Given the description of an element on the screen output the (x, y) to click on. 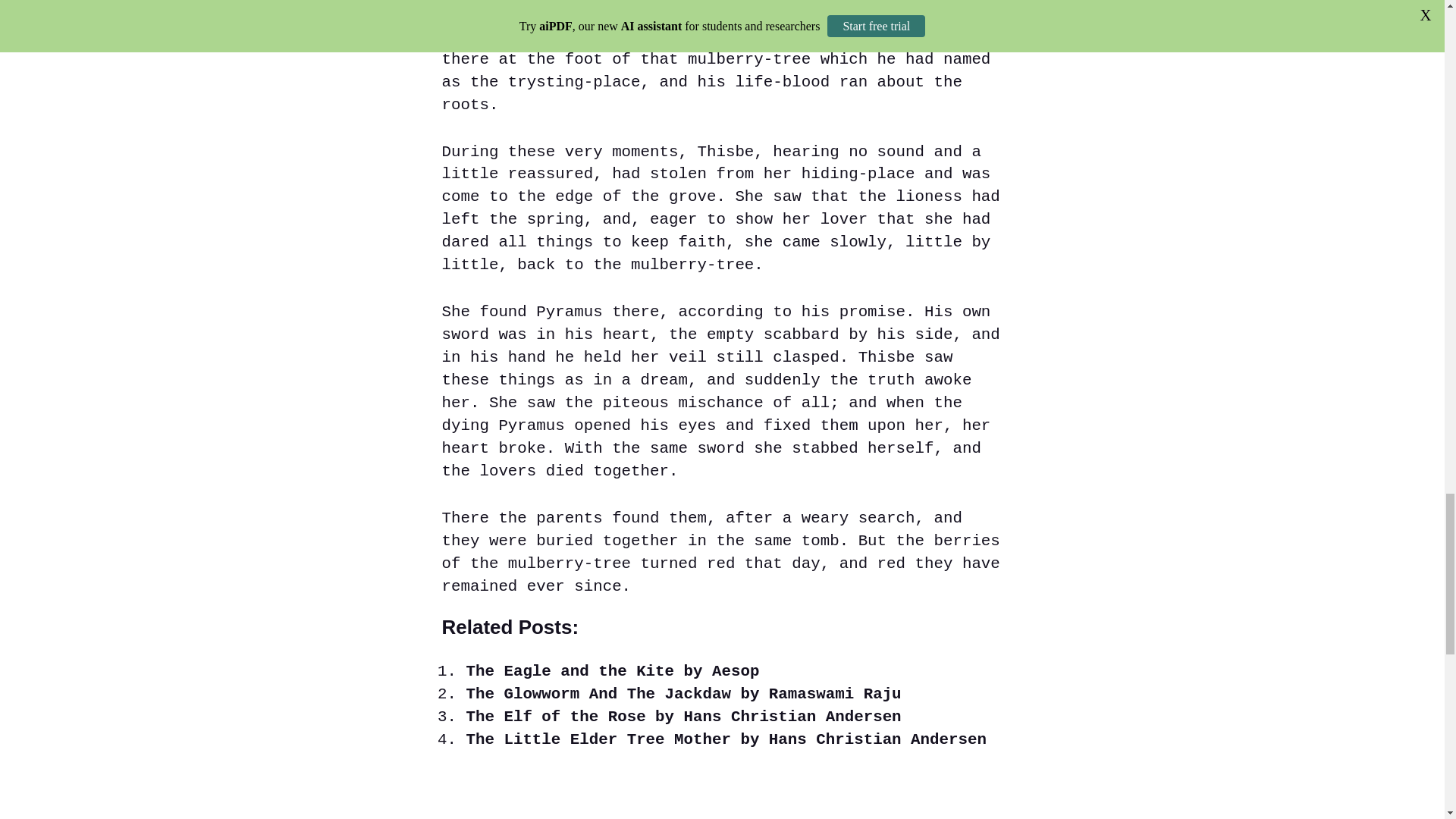
The Elf of the Rose by Hans Christian Andersen (683, 716)
The Little Elder Tree Mother by Hans Christian Andersen (725, 739)
The Eagle and the Kite by Aesop (611, 671)
The Glowworm And The Jackdaw by Ramaswami Raju (683, 693)
